Given the description of an element on the screen output the (x, y) to click on. 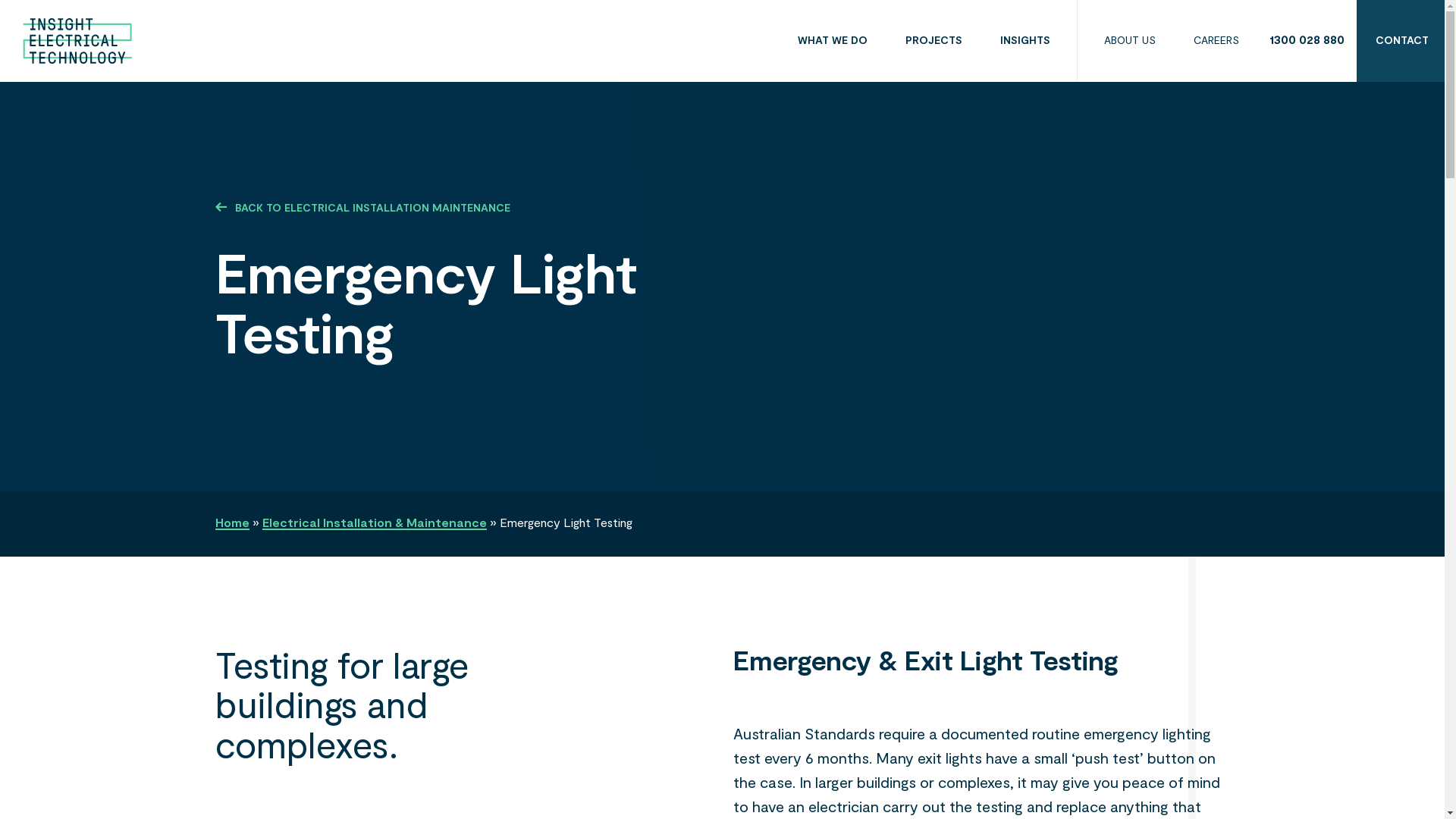
BACK TO ELECTRICAL INSTALLATION MAINTENANCE Element type: text (514, 216)
1300 028 880 Element type: text (1308, 40)
CONTACT Element type: text (1401, 40)
WHAT WE DO Element type: text (832, 40)
Home Element type: text (232, 523)
CAREERS Element type: text (1216, 40)
PROJECTS Element type: text (933, 40)
Electrical Installation & Maintenance Element type: text (374, 523)
ABOUT US Element type: text (1129, 40)
INSIGHTS Element type: text (1025, 40)
